Given the description of an element on the screen output the (x, y) to click on. 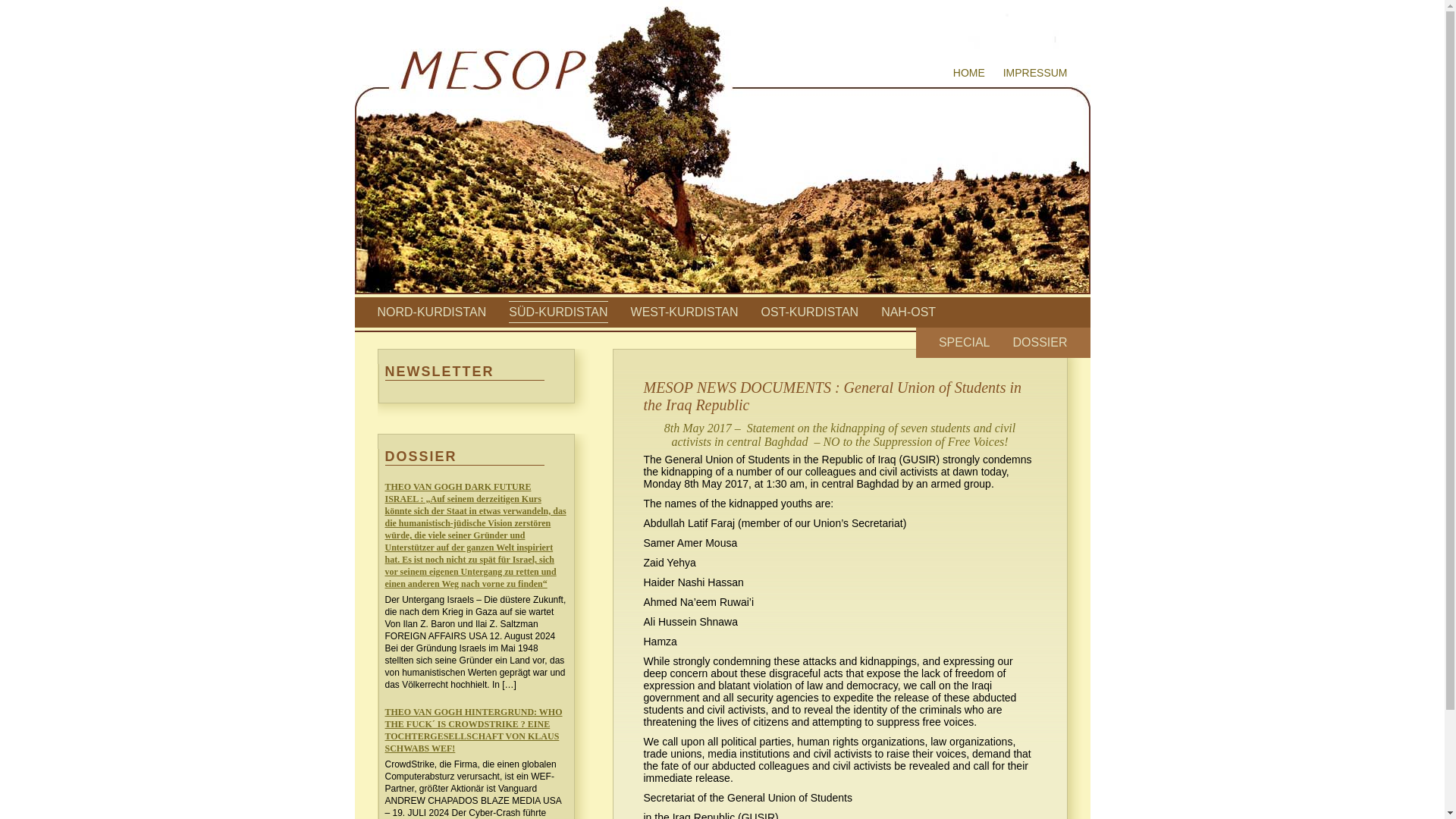
IMPRESSUM (1035, 72)
NAH-OST (908, 311)
WEST-KURDISTAN (684, 311)
OST-KURDISTAN (810, 311)
SPECIAL (964, 341)
DOSSIER (1039, 341)
HOME (969, 72)
NORD-KURDISTAN (431, 311)
